Given the description of an element on the screen output the (x, y) to click on. 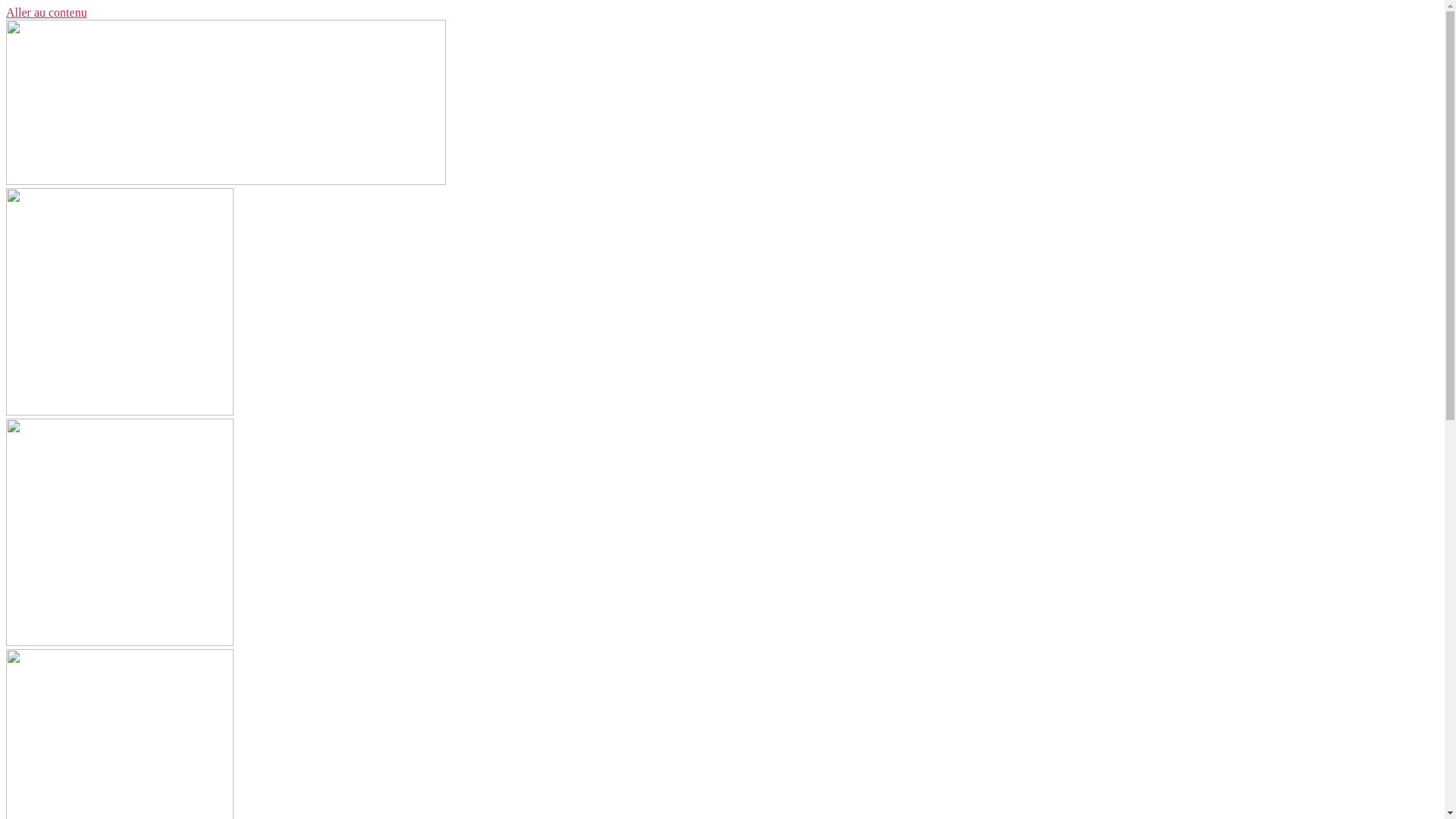
Aller au contenu Element type: text (46, 12)
